Given the description of an element on the screen output the (x, y) to click on. 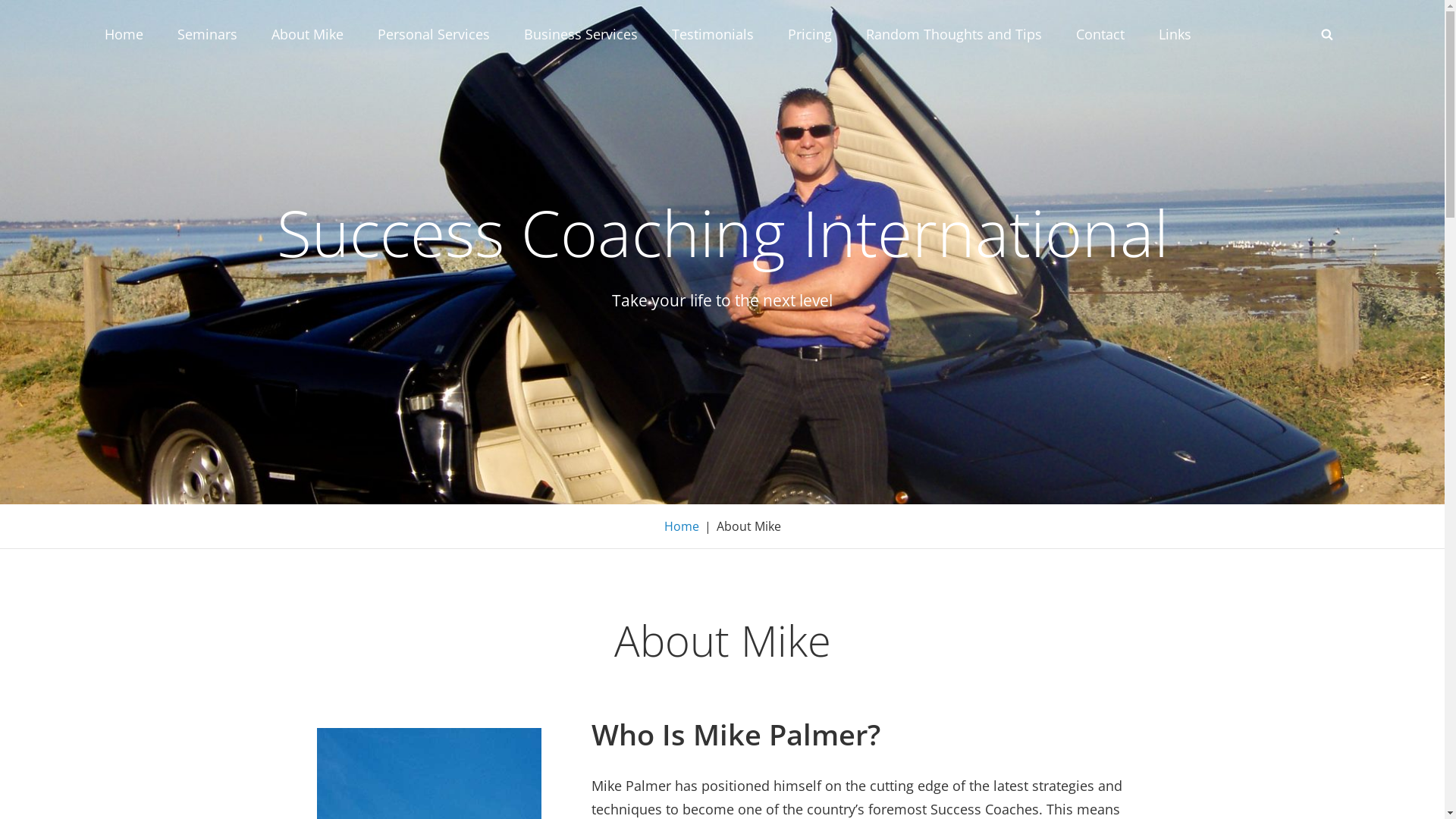
Business Services Element type: text (580, 34)
About Mike Element type: text (307, 34)
Pricing Element type: text (808, 34)
Testimonials Element type: text (712, 34)
Personal Services Element type: text (433, 34)
Seminars Element type: text (207, 34)
Success Coaching International Element type: text (721, 232)
Home Element type: text (123, 34)
SEARCH Element type: text (1326, 33)
Contact Element type: text (1099, 34)
Links Element type: text (1174, 34)
Home Element type: text (681, 525)
Random Thoughts and Tips Element type: text (953, 34)
